Given the description of an element on the screen output the (x, y) to click on. 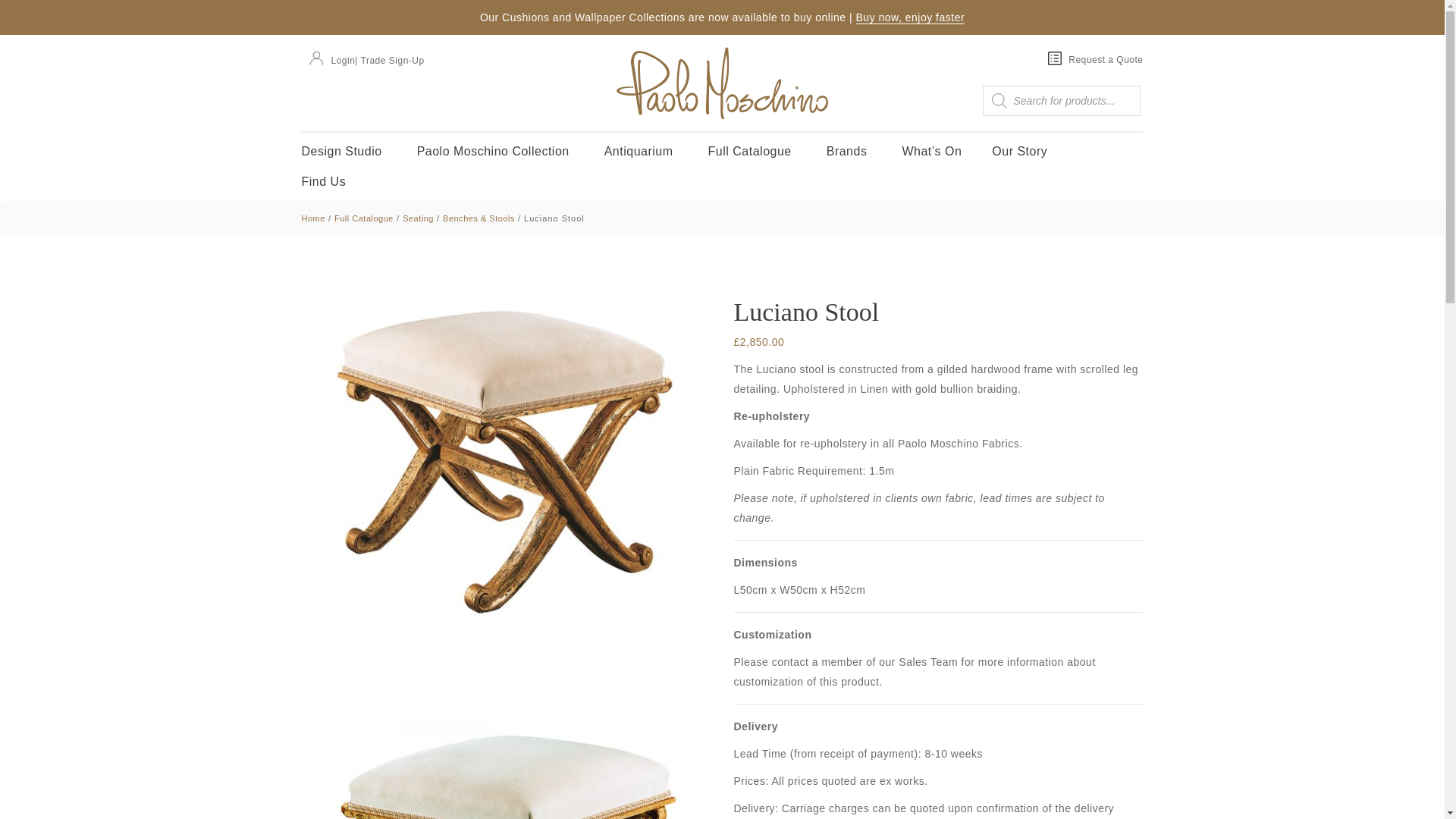
Design Studio (344, 151)
Buy now, enjoy faster (910, 17)
Antiquarium (641, 151)
Paolo Moschino Collection (494, 151)
Request a Quote (1095, 57)
Login (328, 57)
Full Catalogue (751, 151)
